Given the description of an element on the screen output the (x, y) to click on. 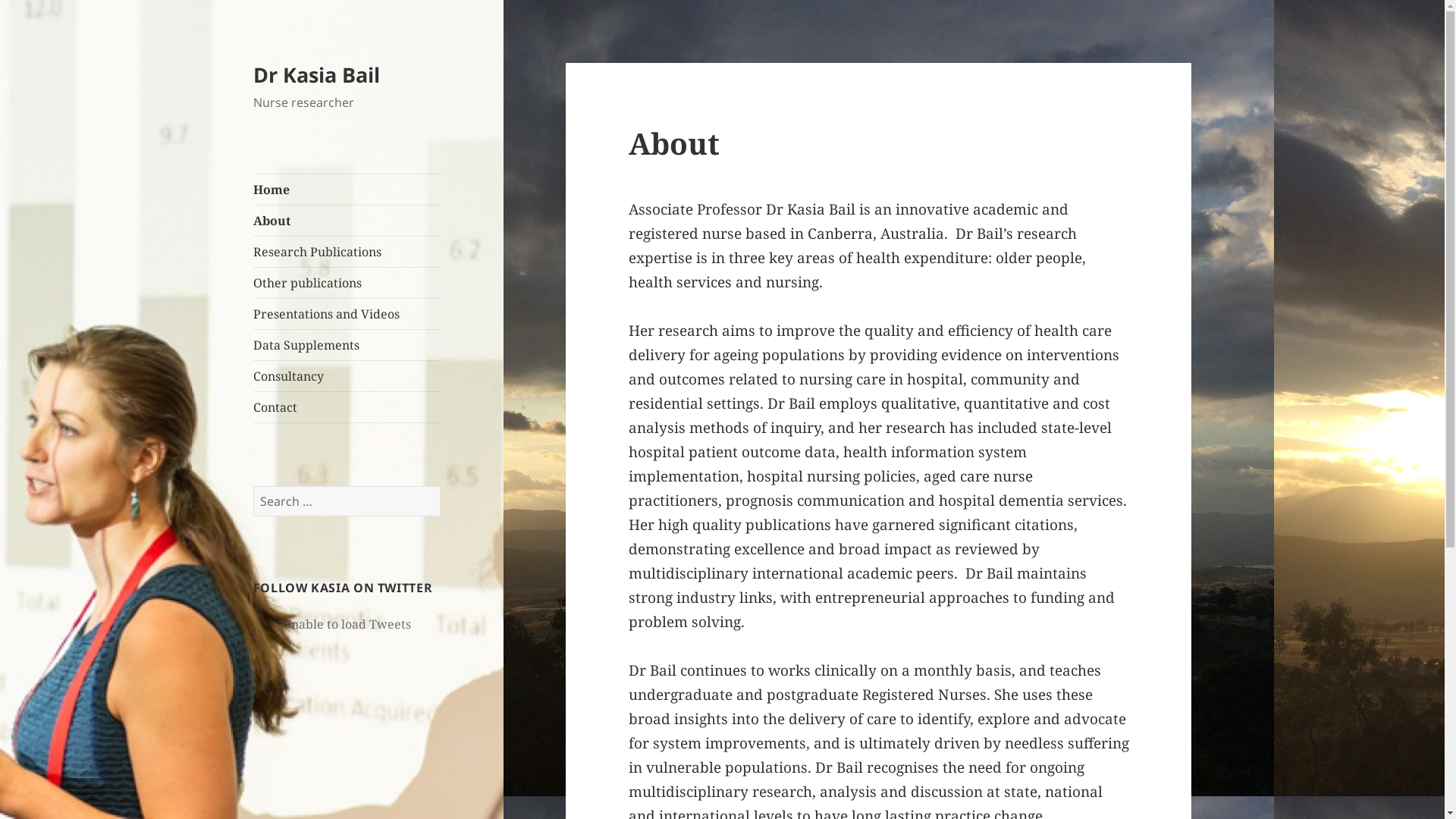
Research Publications Element type: text (347, 251)
Contact Element type: text (347, 407)
Dr Kasia Bail Element type: text (316, 74)
Presentations and Videos Element type: text (347, 313)
Home Element type: text (347, 189)
Consultancy Element type: text (347, 375)
Data Supplements Element type: text (347, 344)
About Element type: text (347, 220)
Other publications Element type: text (347, 282)
Search Element type: text (439, 485)
